Given the description of an element on the screen output the (x, y) to click on. 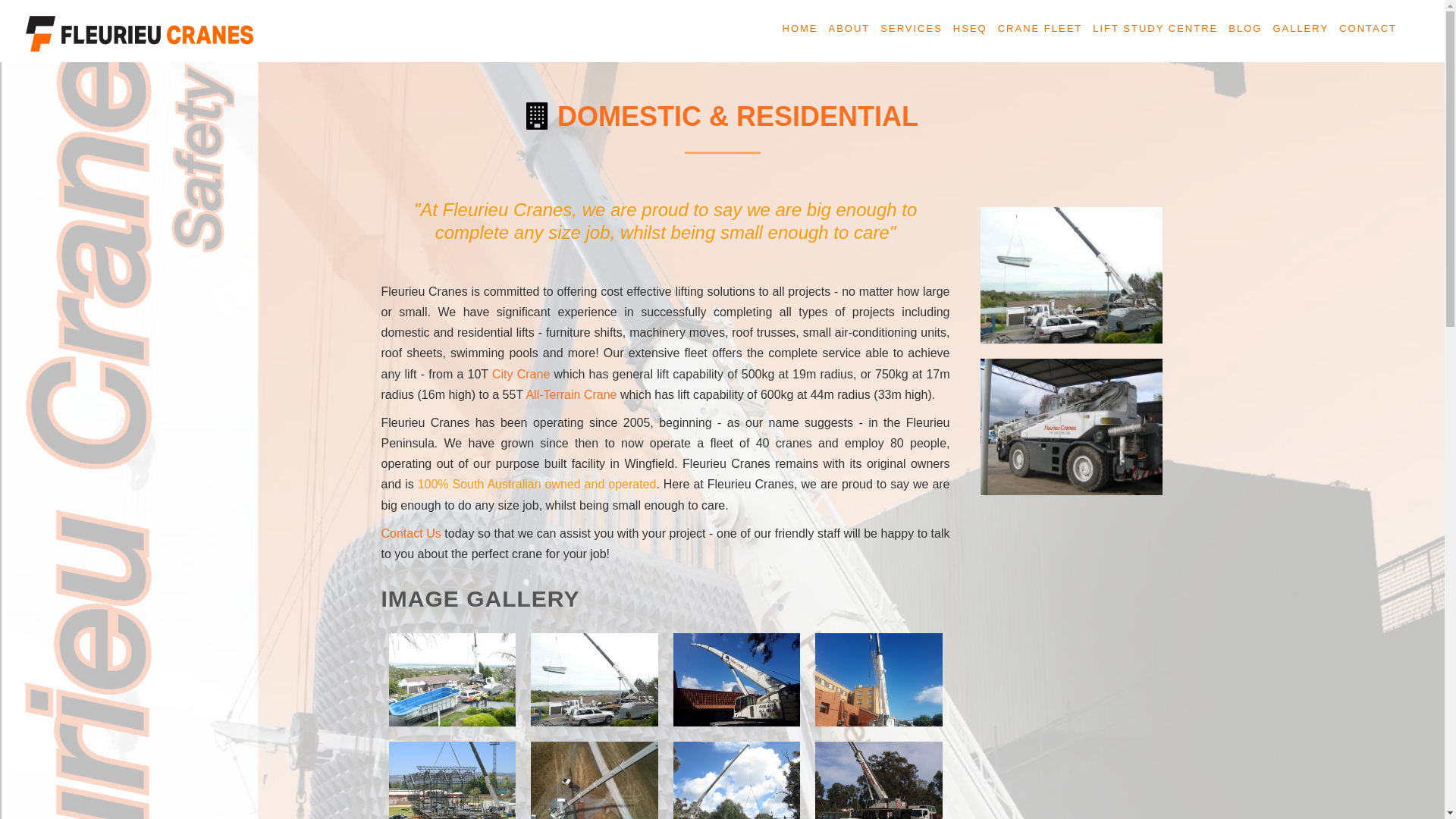
Fleurieu Cranes Element type: hover (139, 33)
Contact Us Element type: text (410, 533)
BLOG Element type: text (1244, 29)
GALLERY Element type: text (1300, 29)
HSEQ Element type: text (970, 29)
City Crane Element type: text (520, 373)
All-Terrain Crane Element type: text (570, 394)
LIFT STUDY CENTRE Element type: text (1154, 29)
CONTACT Element type: text (1367, 29)
SERVICES Element type: text (911, 29)
ABOUT Element type: text (849, 29)
HOME Element type: text (800, 29)
CRANE FLEET Element type: text (1039, 29)
